Given the description of an element on the screen output the (x, y) to click on. 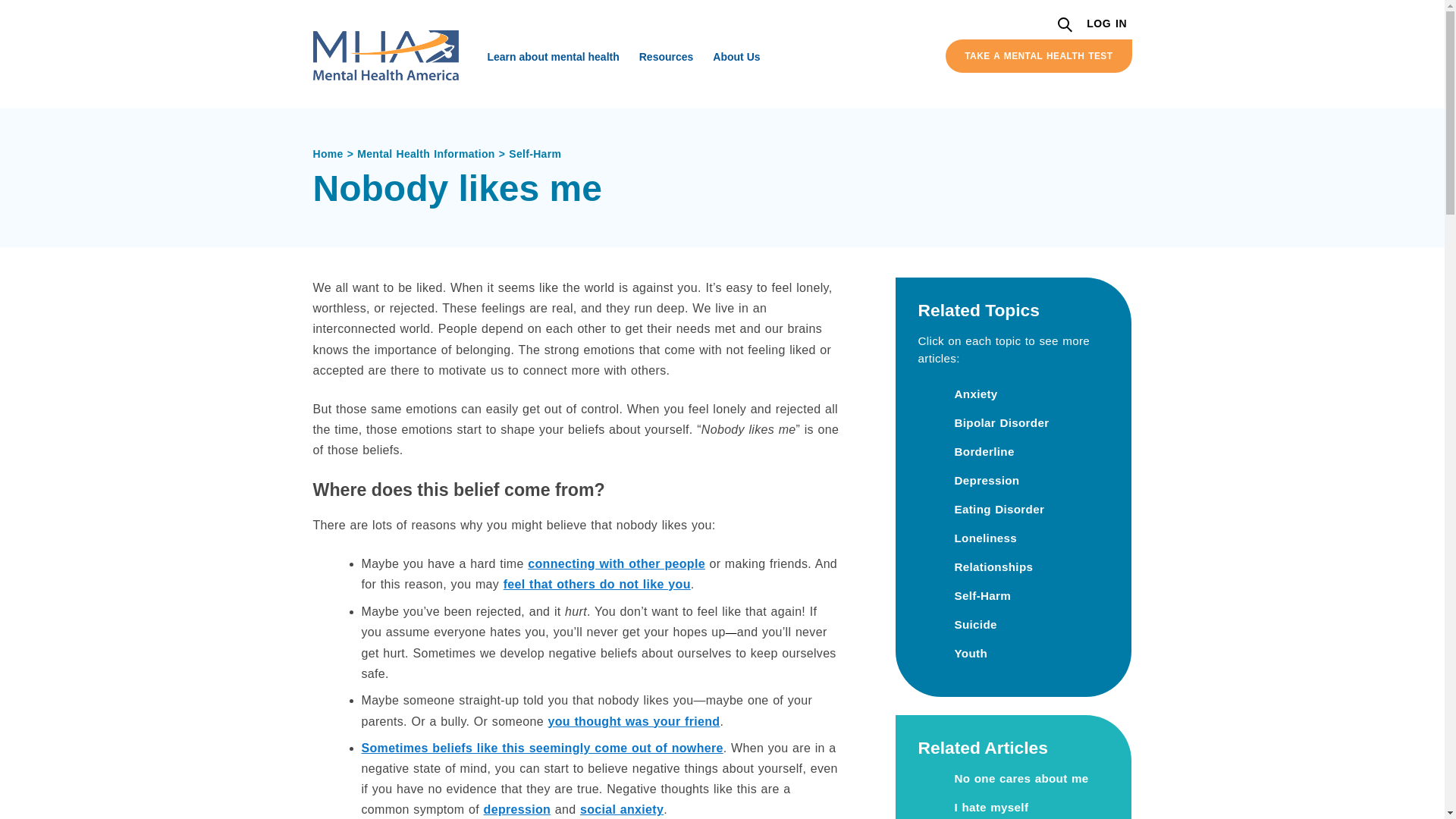
Learn about mental health (552, 56)
Resources (665, 56)
SEARCH (1066, 26)
About Us (736, 56)
TAKE A MENTAL HEALTH TEST (1037, 55)
Home (334, 153)
LOG IN (1106, 23)
